Given the description of an element on the screen output the (x, y) to click on. 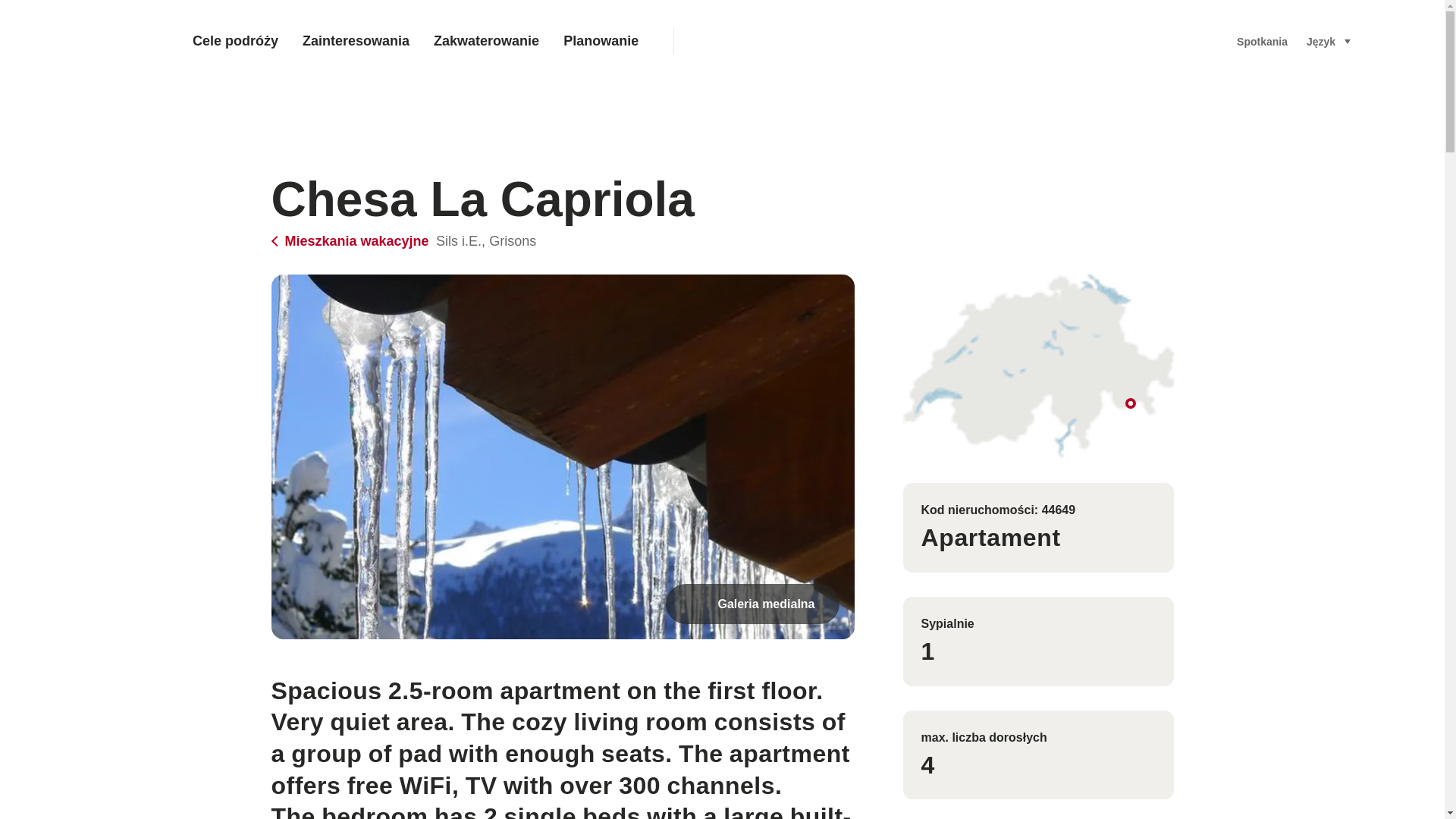
Zakwaterowanie (486, 41)
Planowanie (600, 41)
Show on map (1037, 366)
MySwitzerland (86, 41)
Spotkania (1261, 40)
Zainteresowania (355, 41)
